Given the description of an element on the screen output the (x, y) to click on. 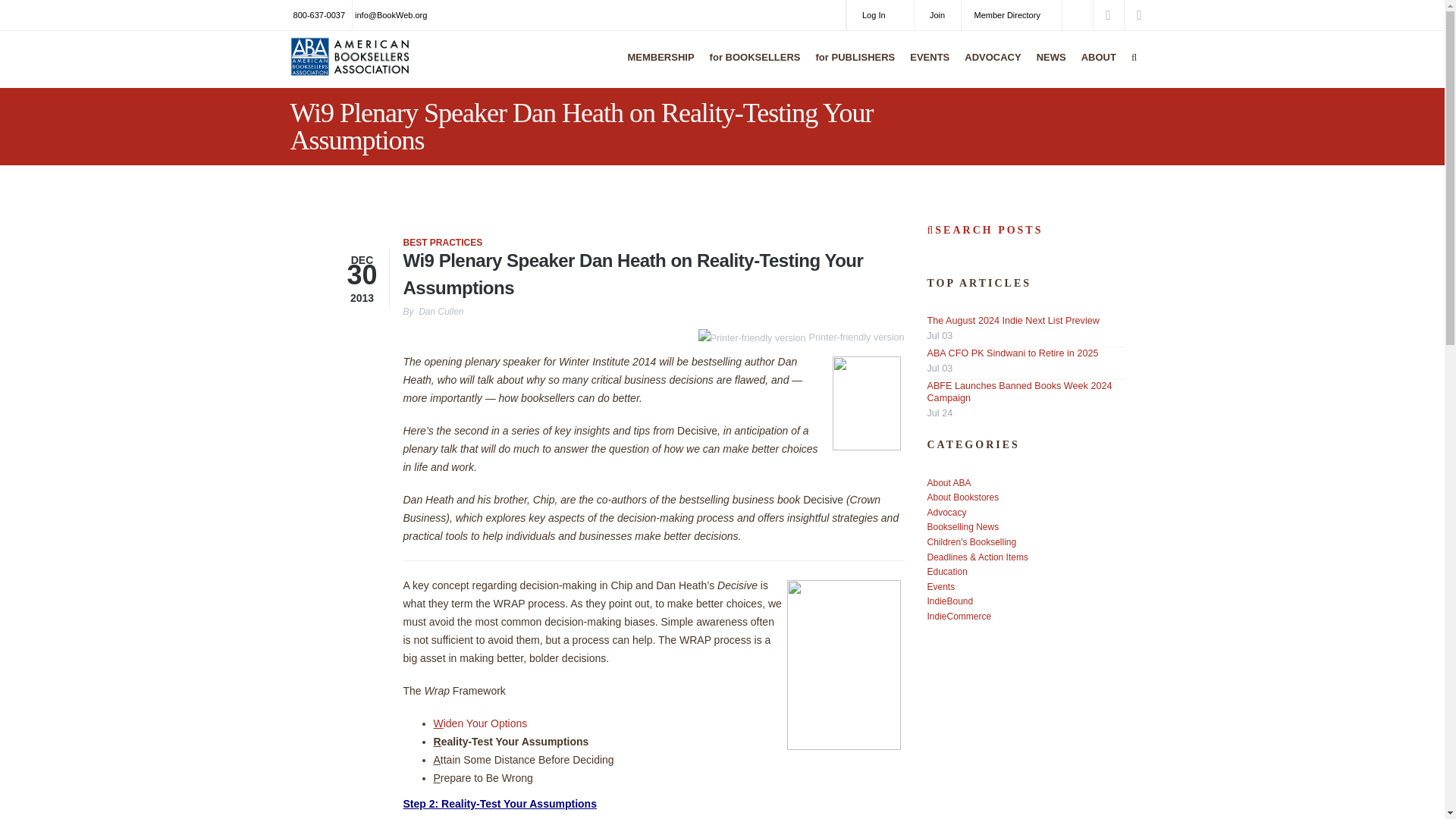
Member Directory (1010, 15)
Printer-friendly version (753, 338)
Log In (880, 15)
Display a printer-friendly version of this page. (801, 337)
MEMBERSHIP (656, 66)
for BOOKSELLERS (751, 66)
Join (937, 15)
